Given the description of an element on the screen output the (x, y) to click on. 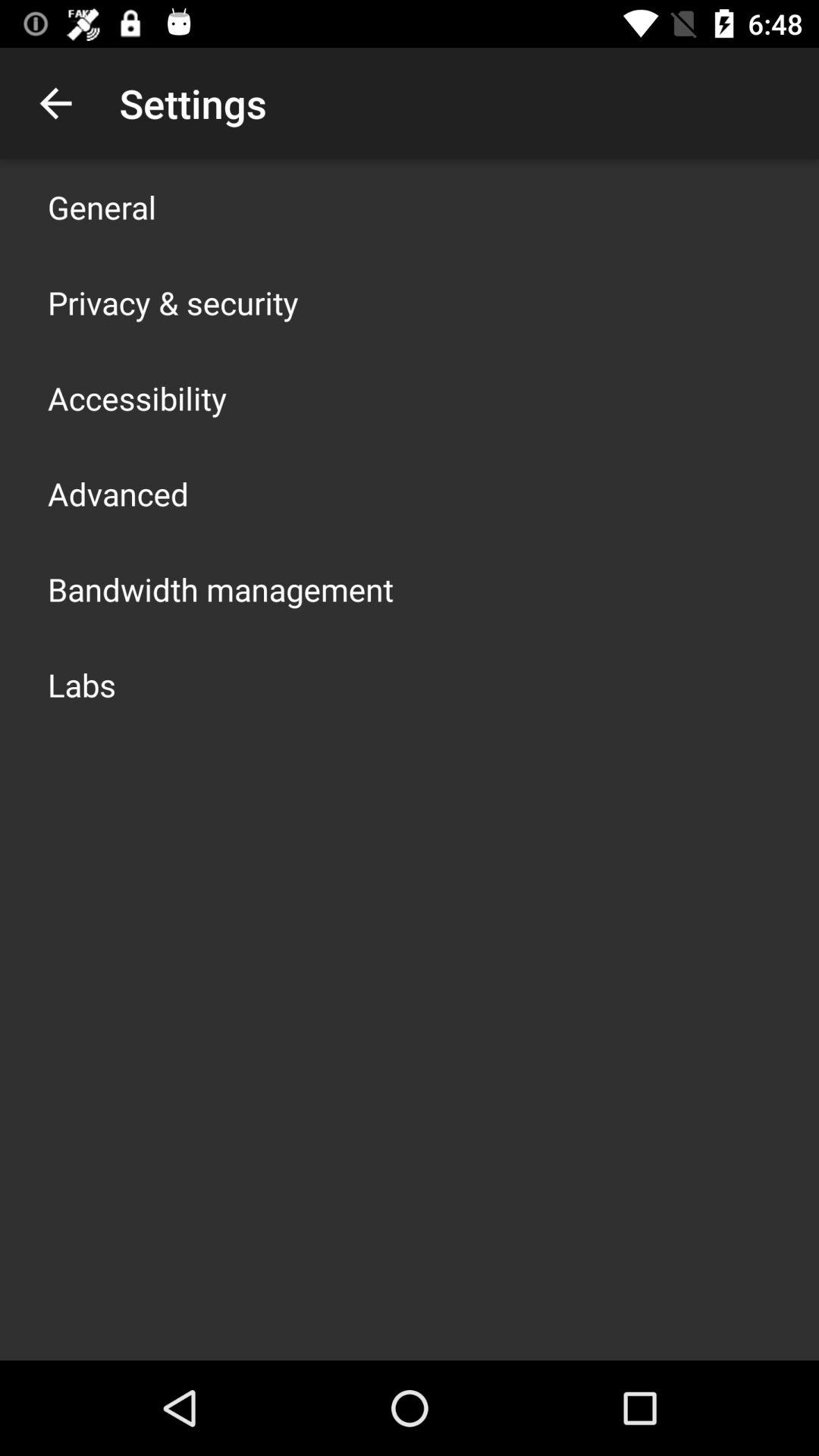
press the app below privacy & security app (136, 397)
